Given the description of an element on the screen output the (x, y) to click on. 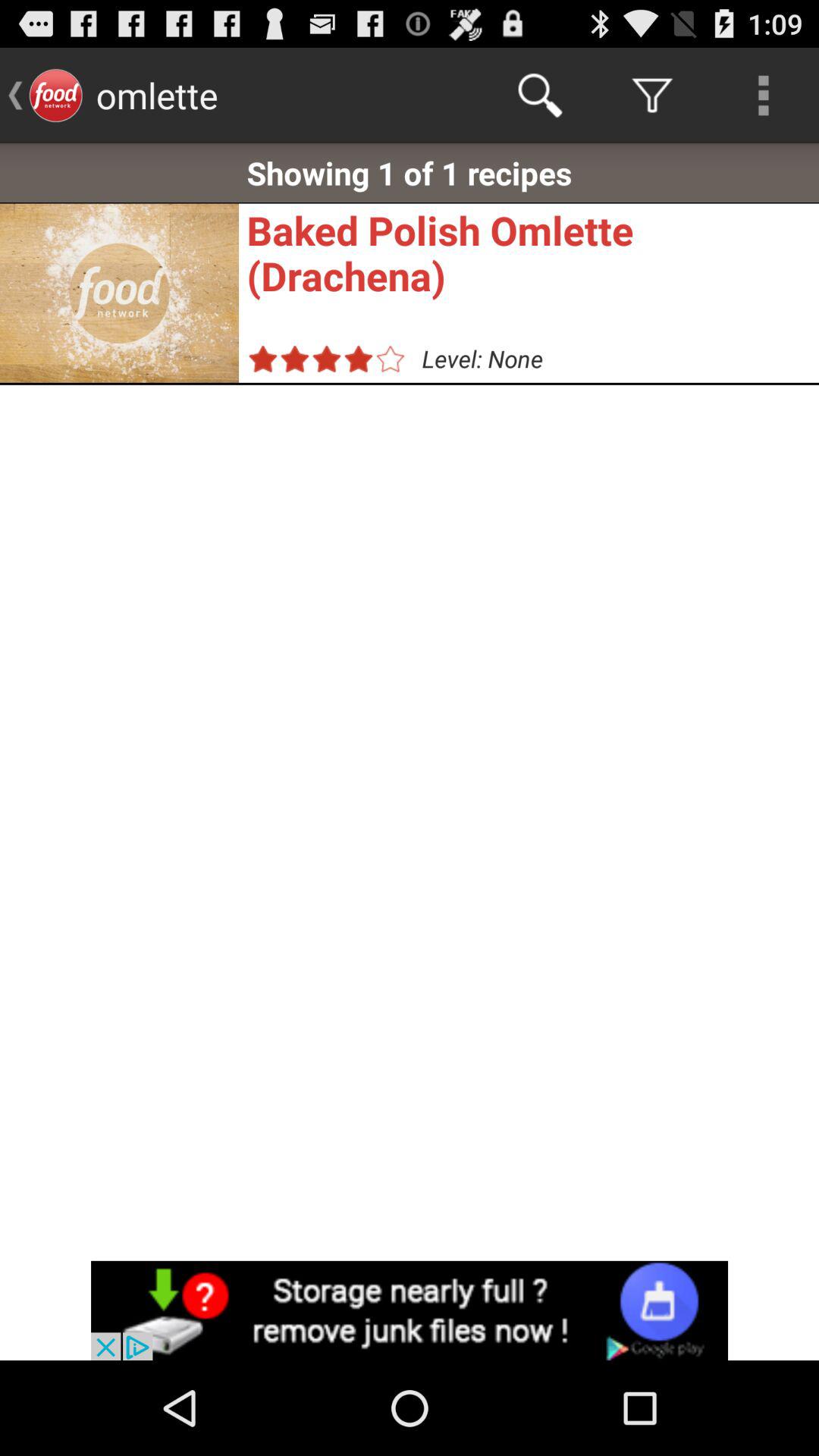
advertisement (409, 1310)
